Given the description of an element on the screen output the (x, y) to click on. 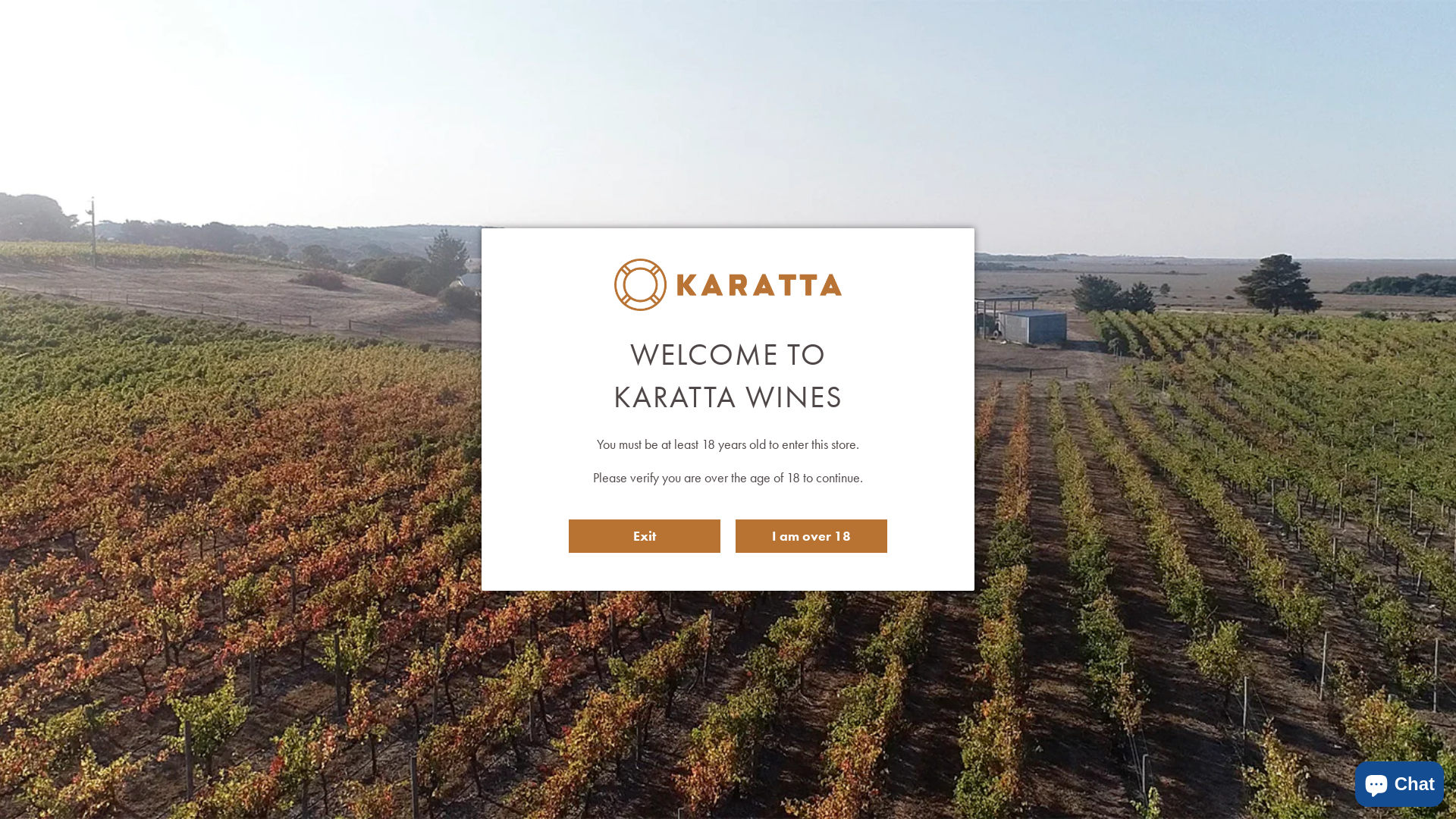
ART GALLERY Element type: text (1067, 41)
Shopify online store chat Element type: hover (1399, 780)
HOME Element type: text (685, 41)
WINE SHOP Element type: text (763, 41)
CONTACT Element type: text (1292, 41)
EXHIBITION AND EVENTS Element type: text (1183, 41)
Subscribe Element type: text (730, 598)
Privacy Element type: text (1235, 604)
THE WINE CIRCLE Element type: text (867, 41)
Exit Element type: text (644, 535)
I am over 18 Element type: text (811, 535)
Terms of Service Element type: text (1256, 629)
THE WINERY Element type: text (972, 41)
Shipping & Delivery Element type: text (1264, 553)
Refunds Element type: text (1236, 579)
Log in Element type: hover (1384, 41)
